Given the description of an element on the screen output the (x, y) to click on. 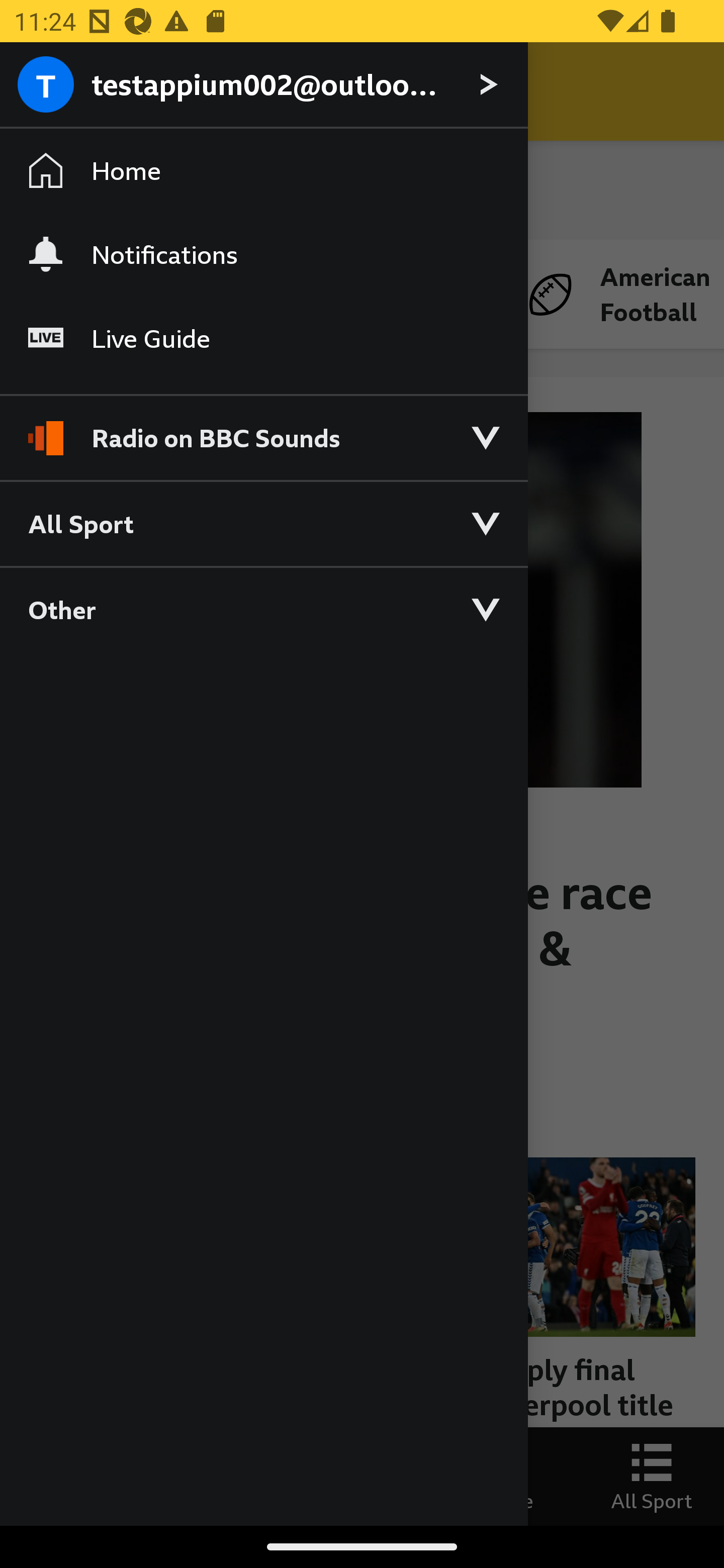
testappium002@outlook.com (263, 85)
Home (263, 170)
Notifications (263, 253)
Live Guide (263, 338)
Radio on BBC Sounds (263, 429)
All Sport (263, 522)
Other (263, 609)
